Given the description of an element on the screen output the (x, y) to click on. 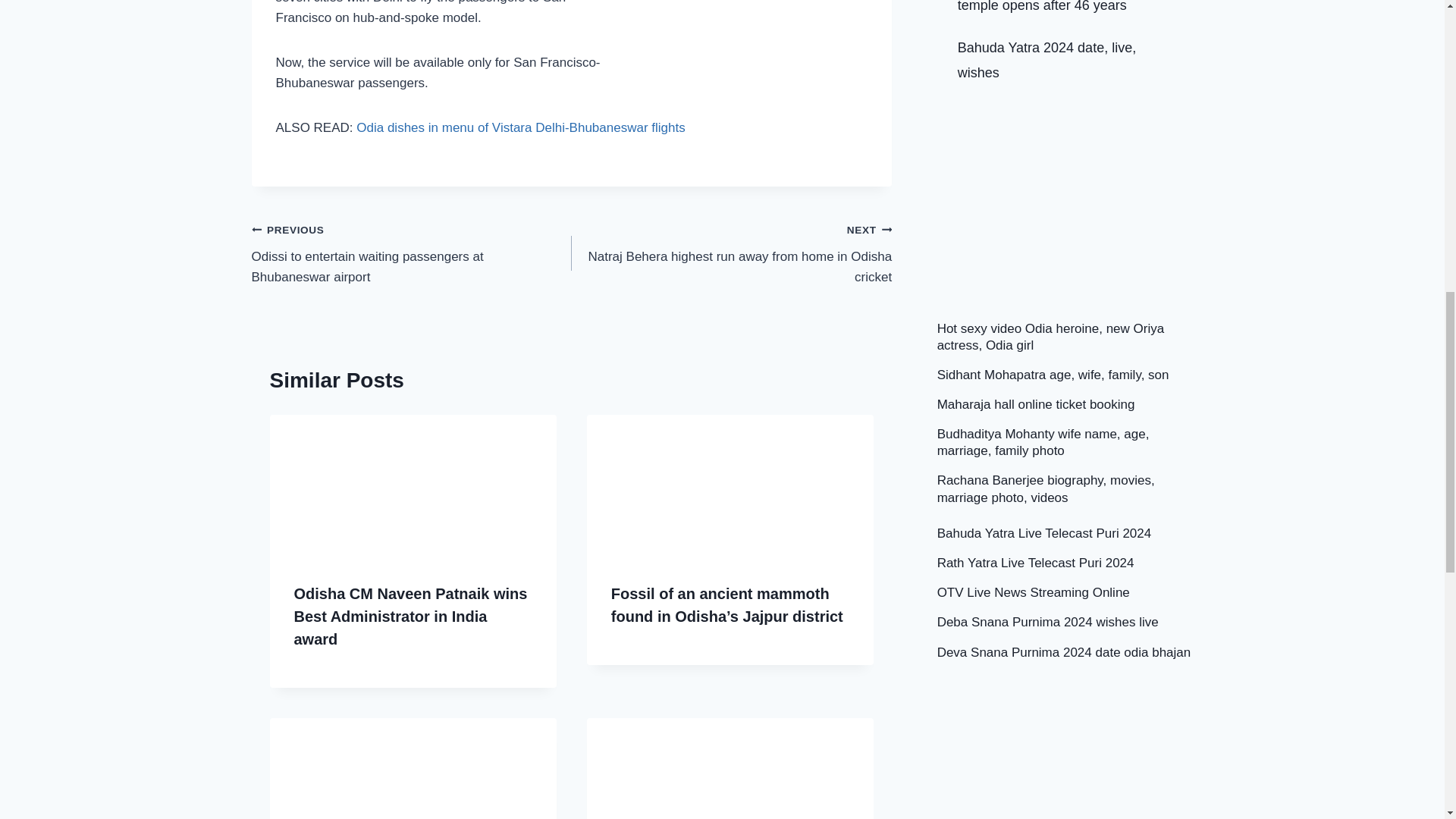
Odia dishes in menu of Vistara Delhi-Bhubaneswar flights (520, 127)
